Given the description of an element on the screen output the (x, y) to click on. 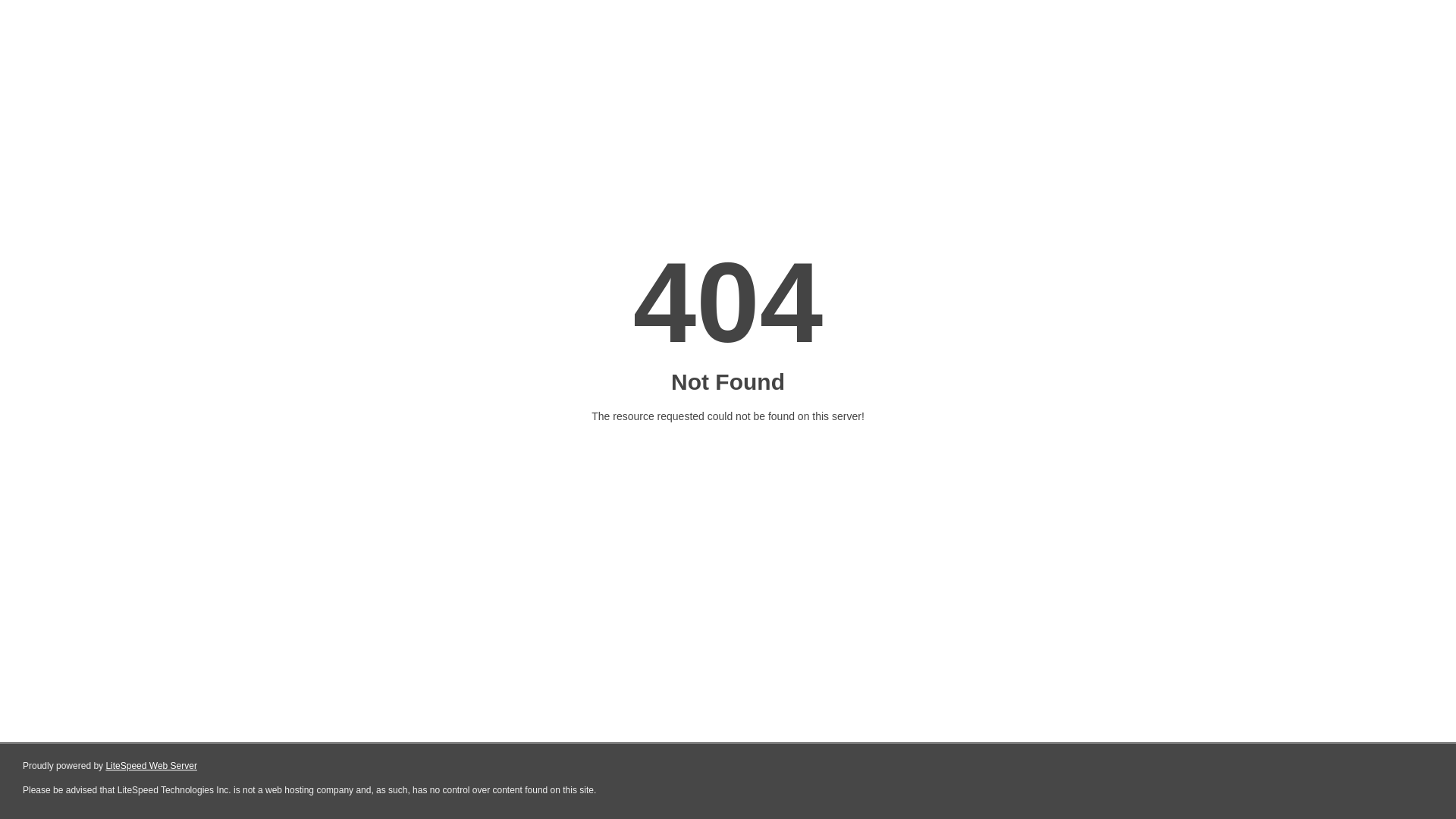
LiteSpeed Web Server Element type: text (151, 765)
